Given the description of an element on the screen output the (x, y) to click on. 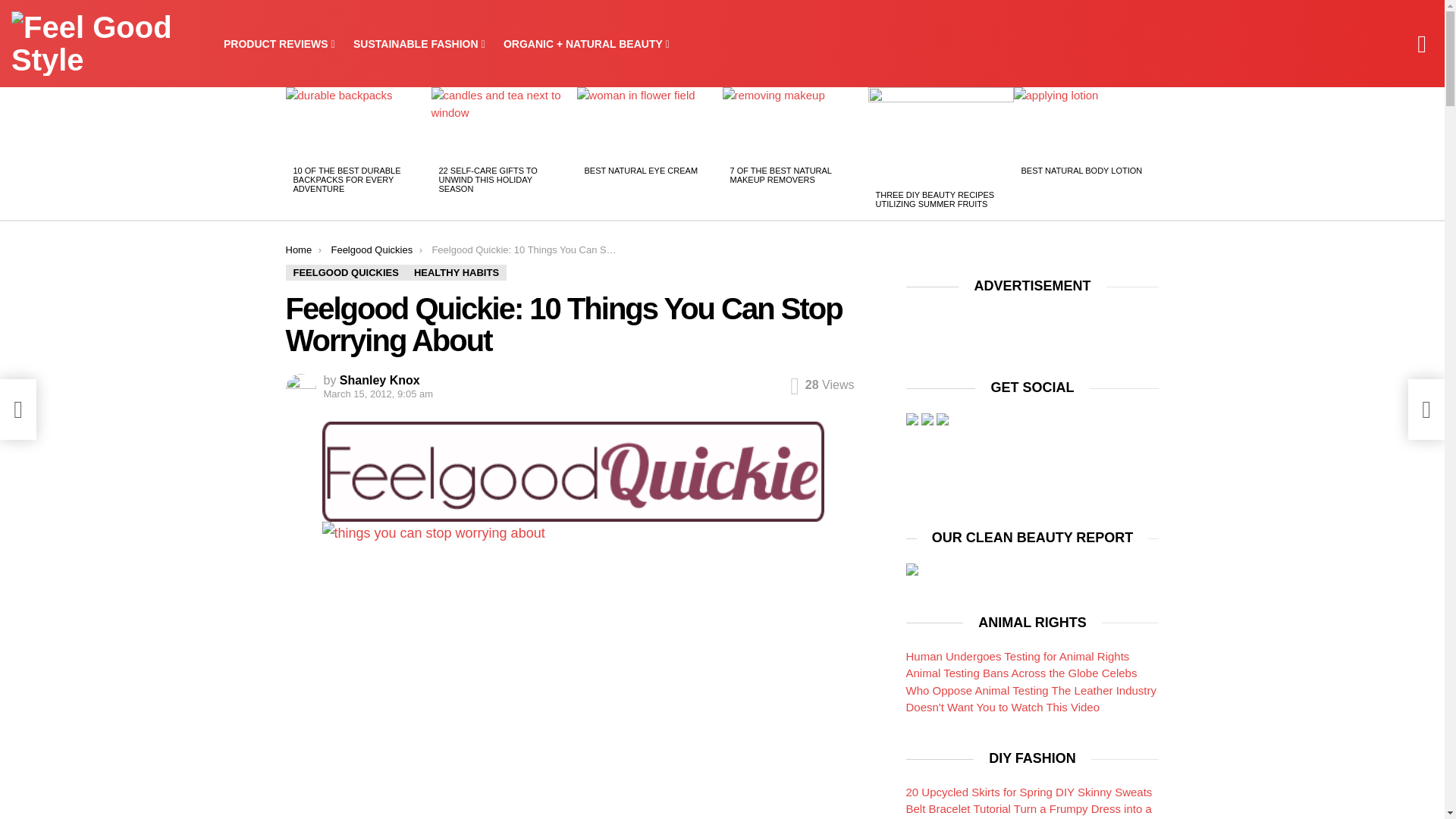
BEST NATURAL BODY LOTION (1080, 170)
SUSTAINABLE FASHION (419, 44)
22 SELF-CARE GIFTS TO UNWIND THIS HOLIDAY SEASON (487, 179)
PRODUCT REVIEWS (278, 44)
10 OF THE BEST DURABLE BACKPACKS FOR EVERY ADVENTURE (346, 179)
Posts by Shanley Knox (379, 379)
7 OF THE BEST NATURAL MAKEUP REMOVERS (780, 175)
THREE DIY BEAUTY RECIPES UTILIZING SUMMER FRUITS (934, 199)
BEST NATURAL EYE CREAM (640, 170)
